Given the description of an element on the screen output the (x, y) to click on. 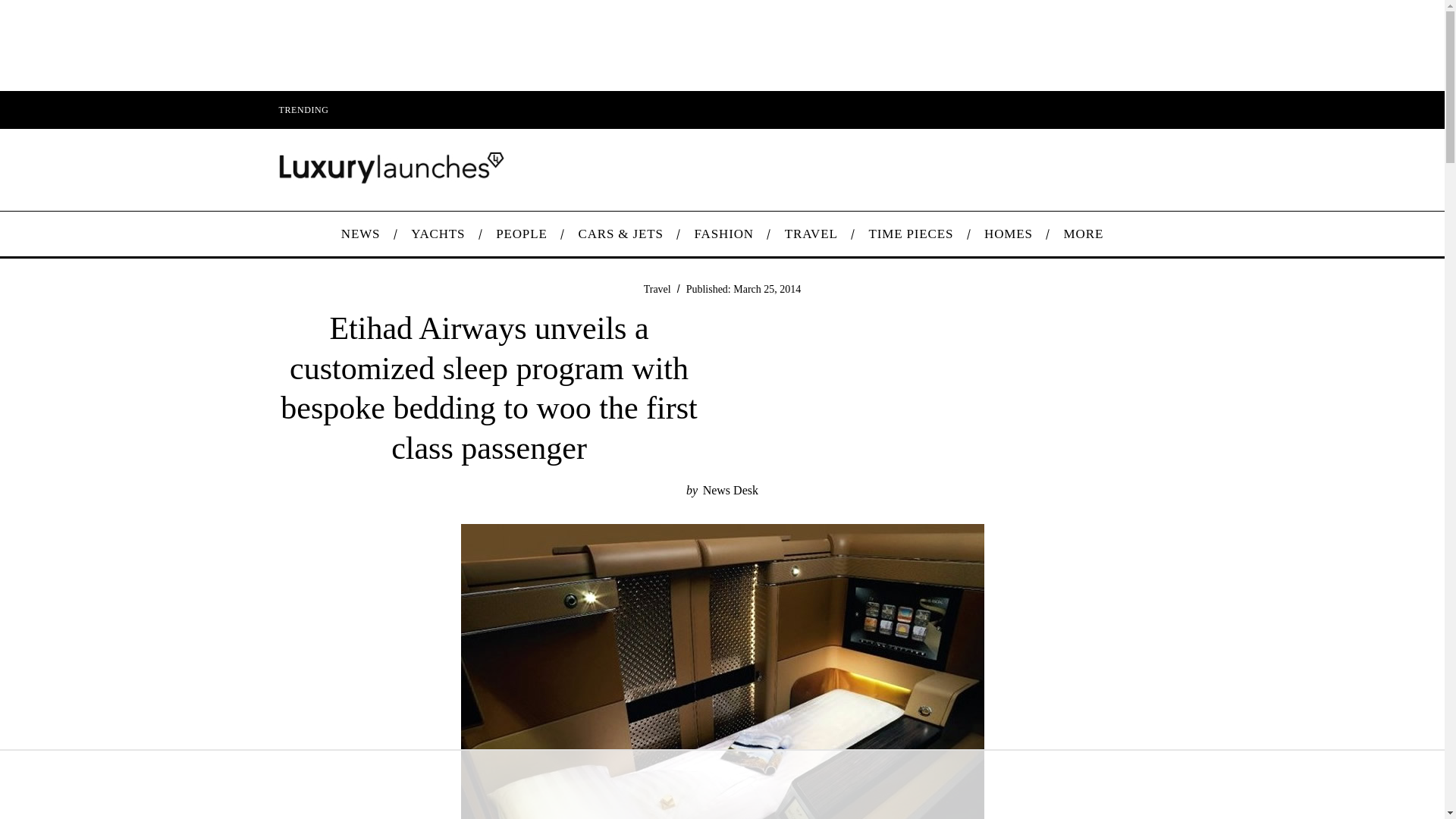
MORE (1083, 233)
HOMES (1008, 233)
PEOPLE (521, 233)
TRAVEL (810, 233)
Travel (657, 288)
NEWS (359, 233)
YACHTS (438, 233)
News Desk (730, 490)
FASHION (723, 233)
TRENDING (302, 109)
TIME PIECES (911, 233)
